Given the description of an element on the screen output the (x, y) to click on. 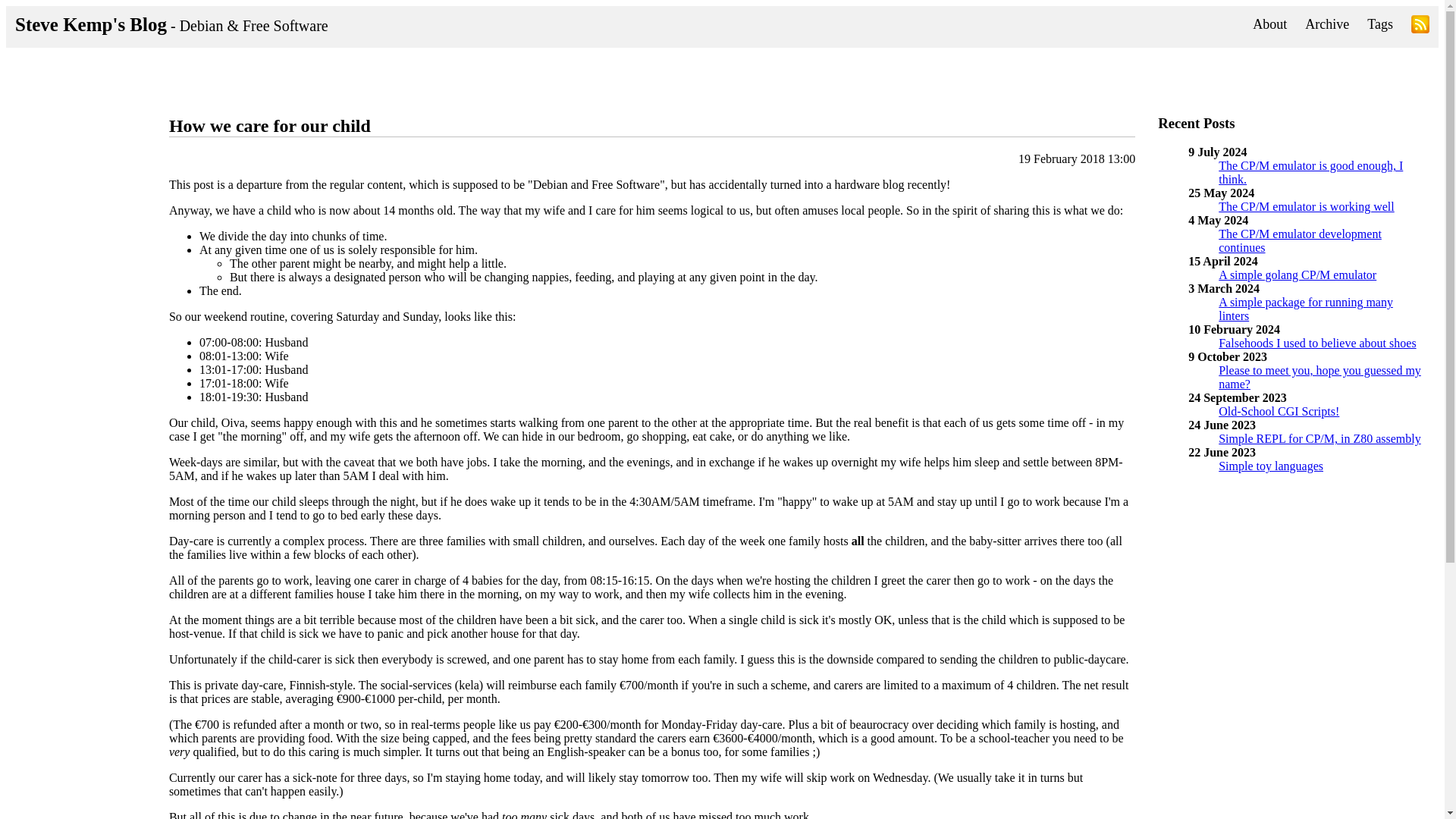
Please to meet you, hope you guessed my name? (1319, 376)
How we care for our child (269, 125)
Old-School CGI Scripts! (1278, 410)
Archive (1326, 24)
About (1269, 24)
A simple package for running many linters (1305, 308)
Falsehoods I used to believe about shoes (1316, 342)
Tags (1380, 24)
Simple toy languages (1270, 465)
